Given the description of an element on the screen output the (x, y) to click on. 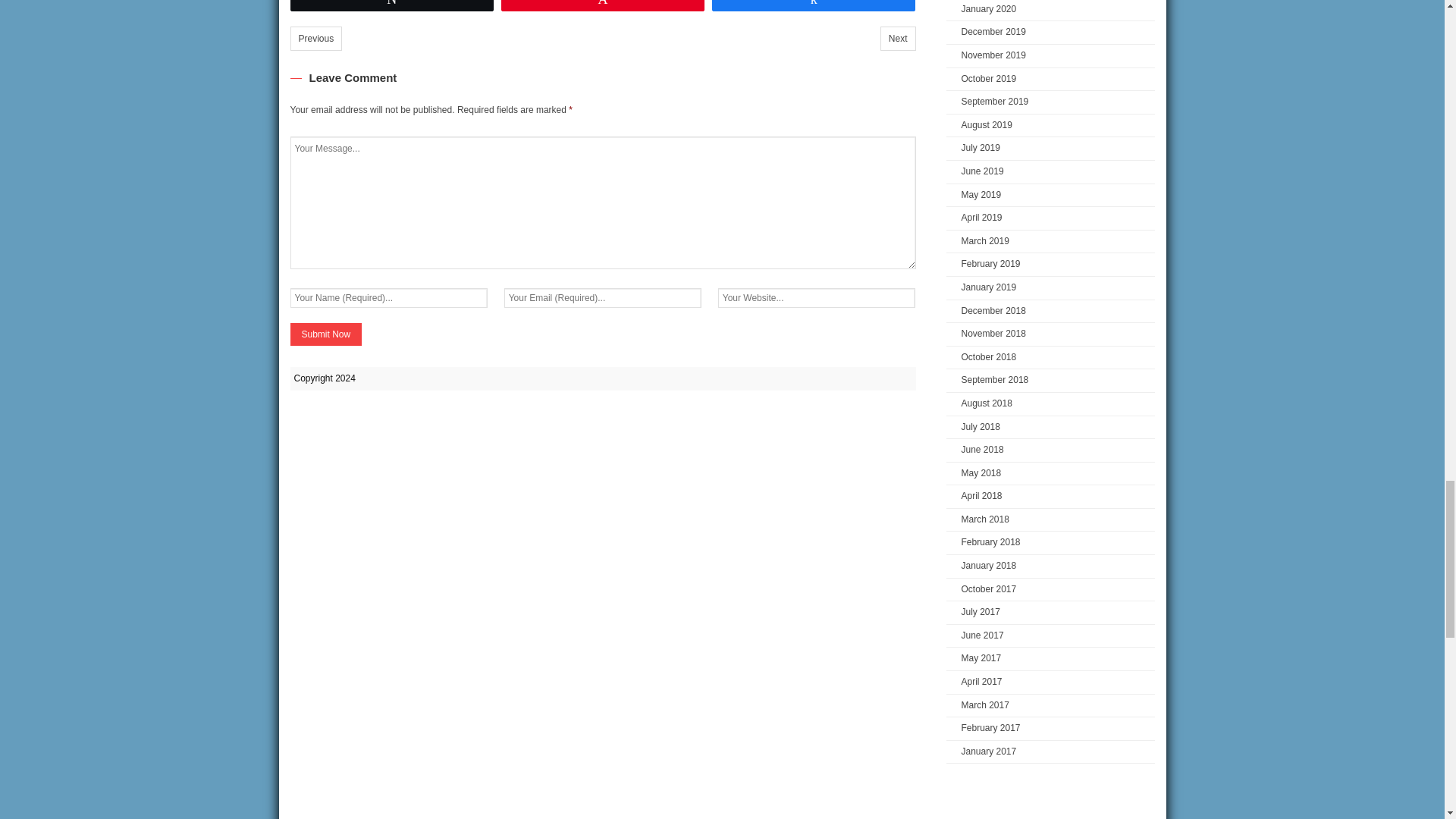
Submit Now (325, 333)
